Given the description of an element on the screen output the (x, y) to click on. 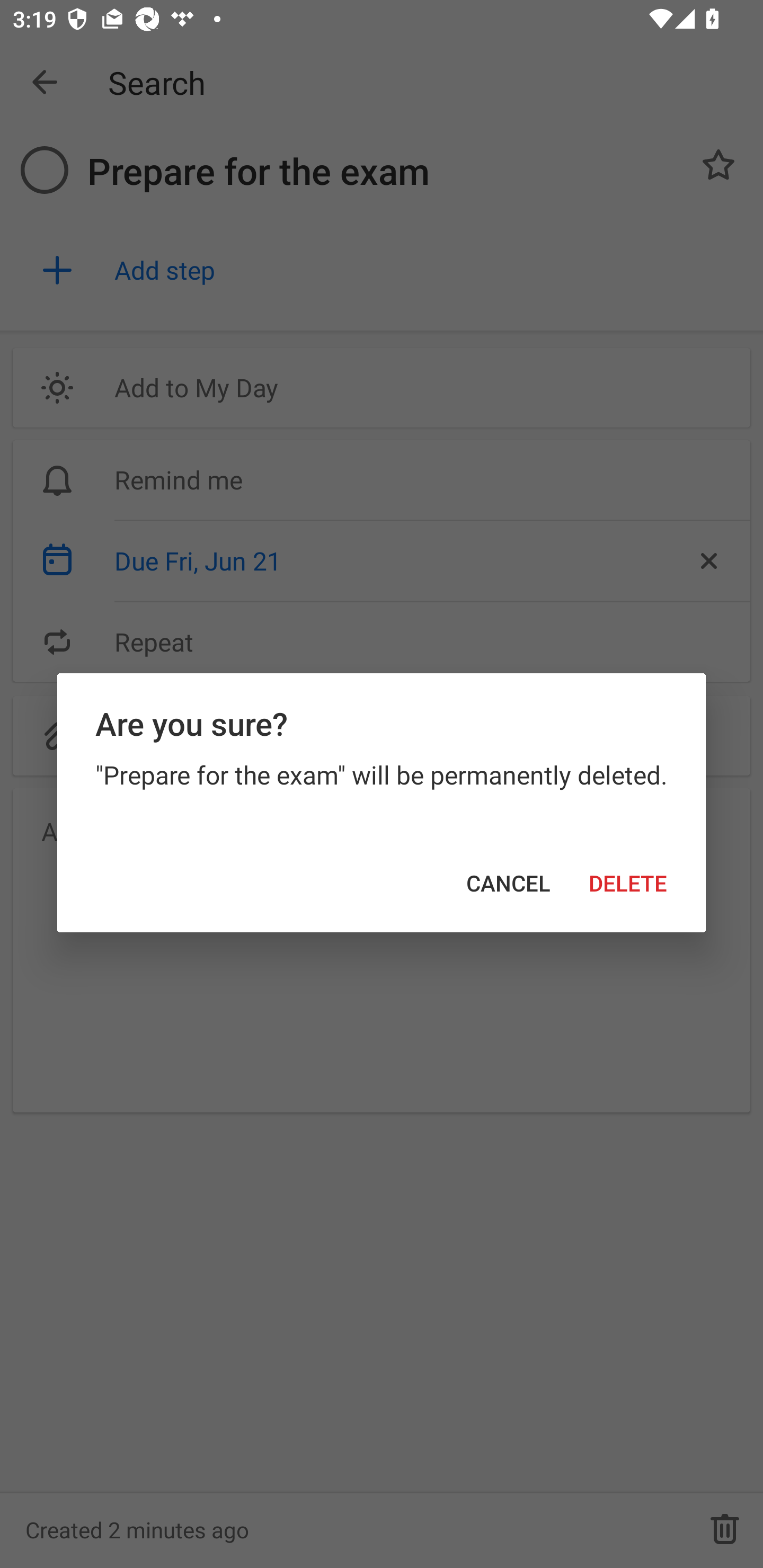
DELETE (627, 883)
